Given the description of an element on the screen output the (x, y) to click on. 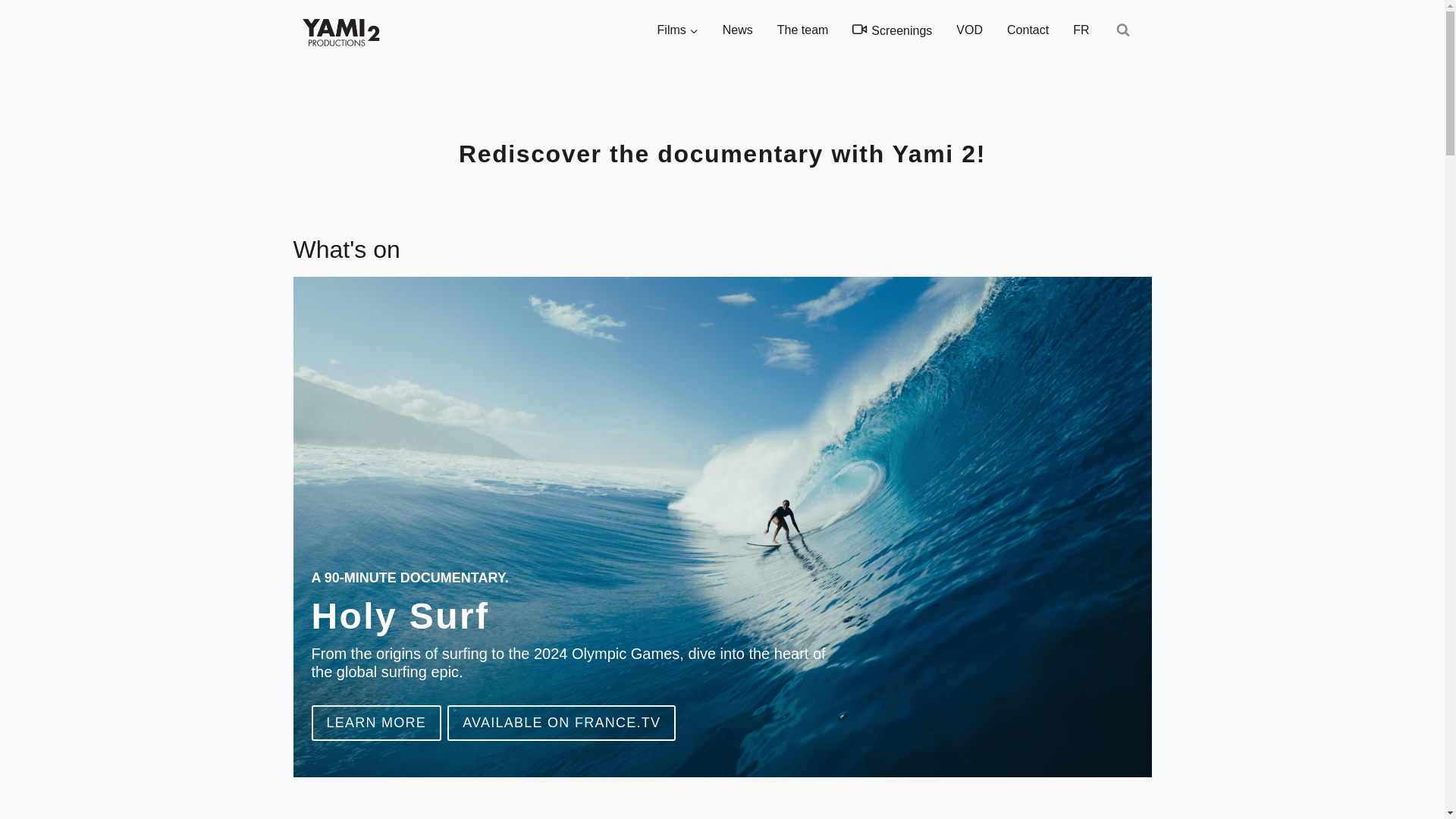
FR (1080, 29)
AVAILABLE ON FRANCE.TV (560, 723)
LEARN MORE (376, 723)
Screenings (891, 29)
Films (677, 29)
News (737, 29)
VOD (968, 29)
Contact (1027, 29)
The team (803, 29)
